Given the description of an element on the screen output the (x, y) to click on. 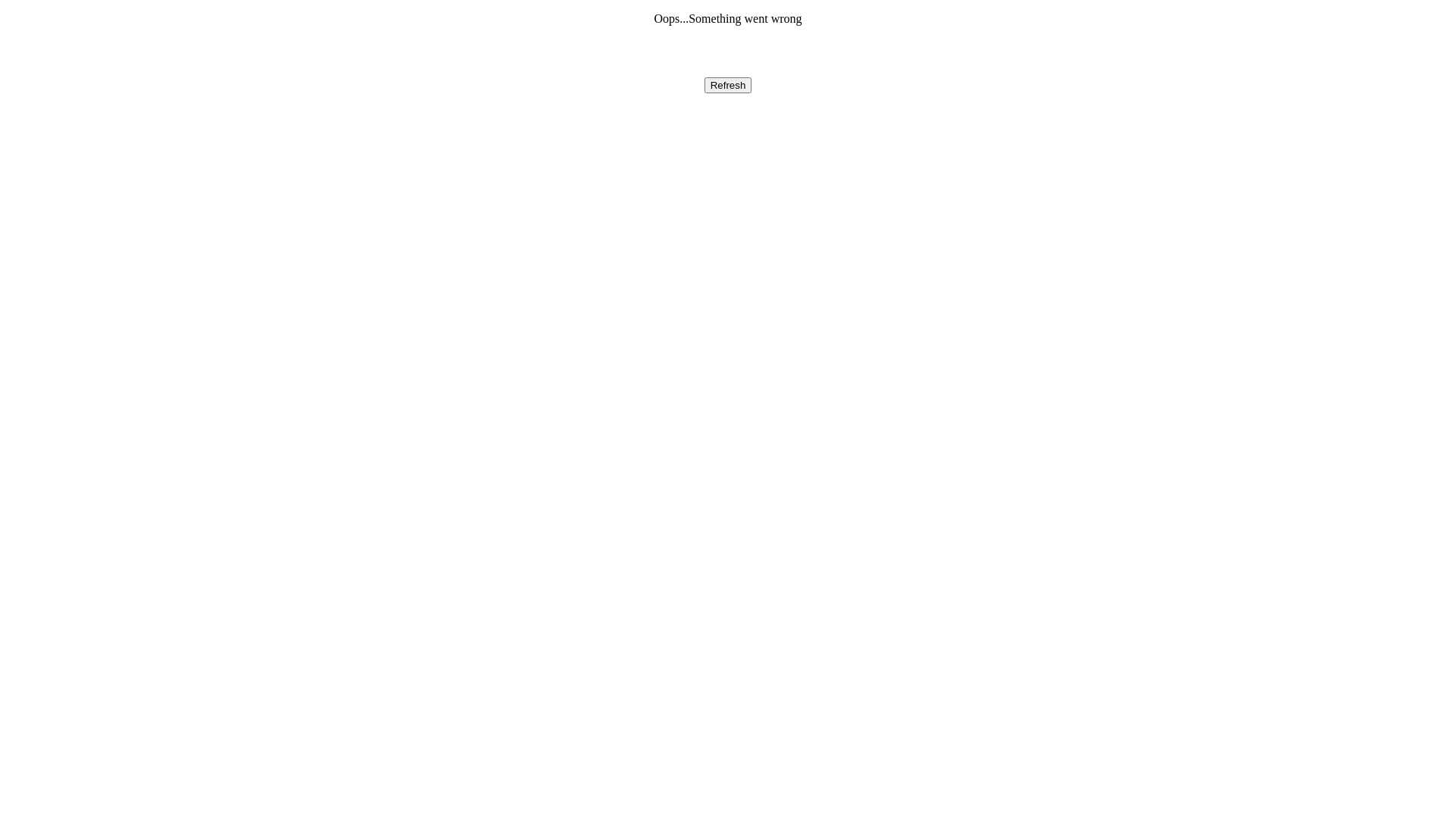
Refresh Element type: text (728, 85)
